Given the description of an element on the screen output the (x, y) to click on. 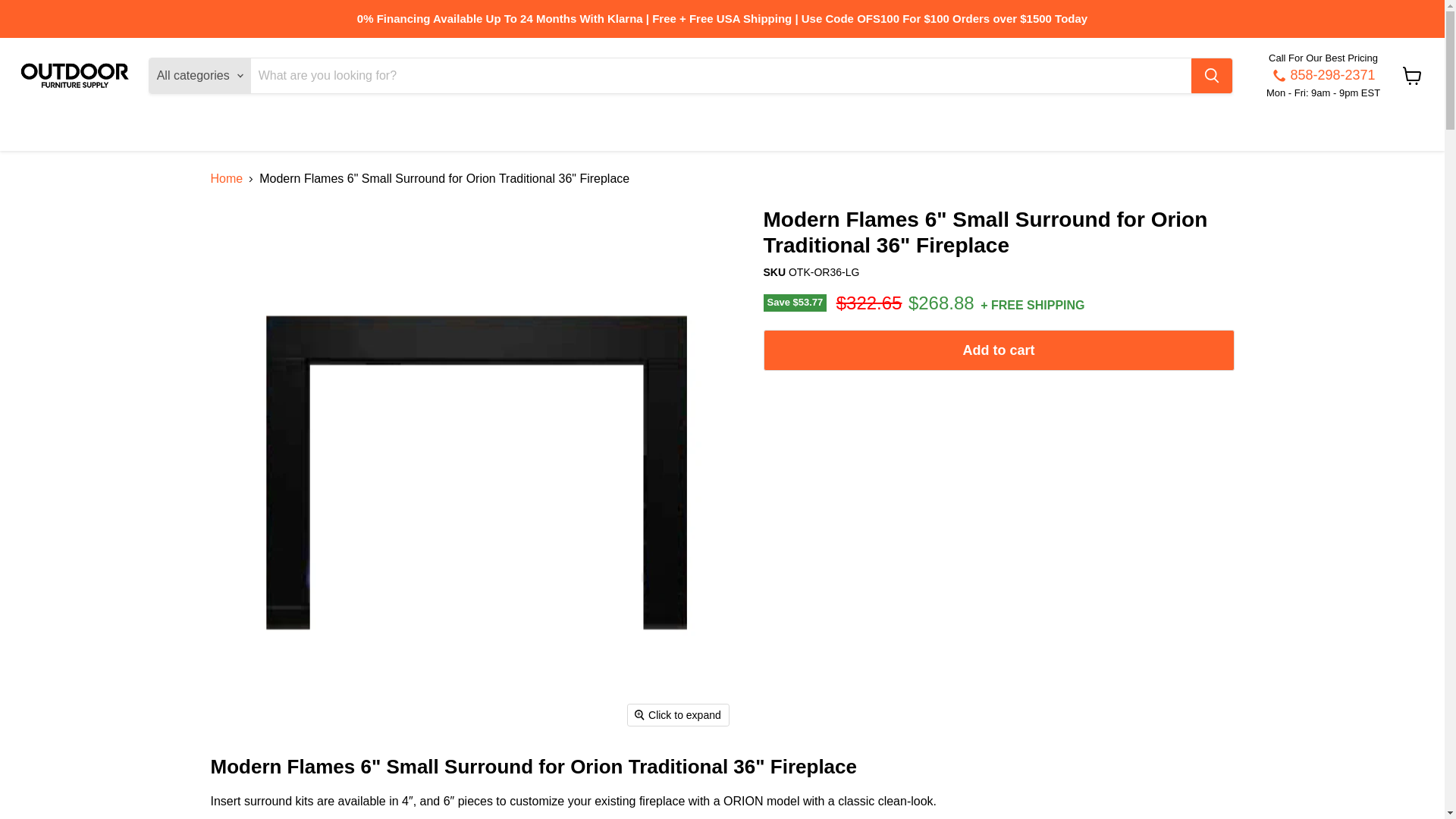
View cart (1411, 75)
858-298-2371 (1322, 75)
Click to expand (678, 714)
Add to cart (997, 350)
Home (227, 178)
